Given the description of an element on the screen output the (x, y) to click on. 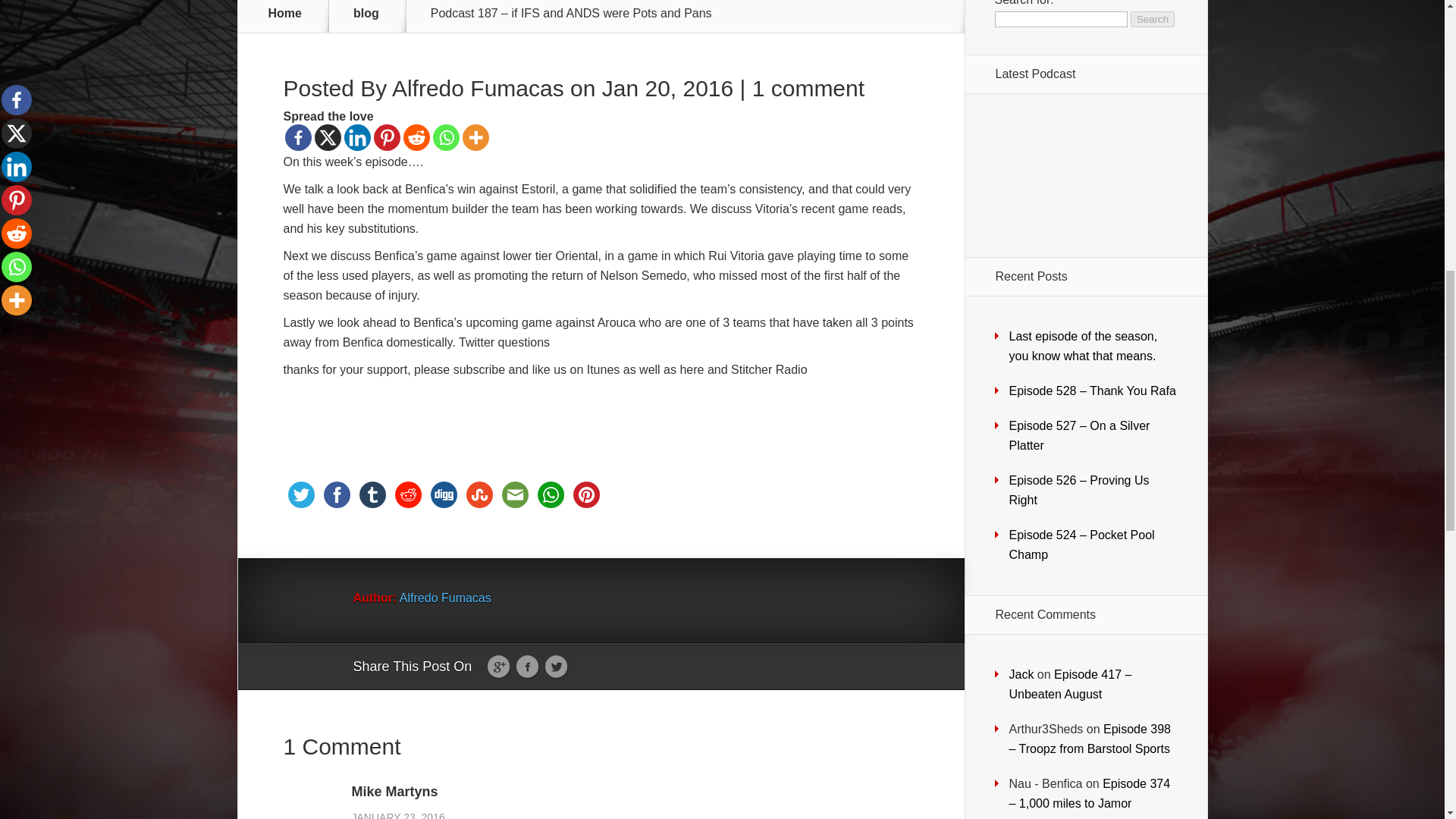
X (327, 137)
reddit (407, 494)
Pinterest (385, 137)
Alfredo Fumacas (477, 88)
Linkedin (357, 137)
Search (1152, 19)
facebook (335, 494)
twitter (300, 494)
blog (375, 13)
Reddit (416, 137)
More (476, 137)
1 comment (808, 88)
tumblr (372, 494)
Facebook (298, 137)
Home (285, 13)
